Given the description of an element on the screen output the (x, y) to click on. 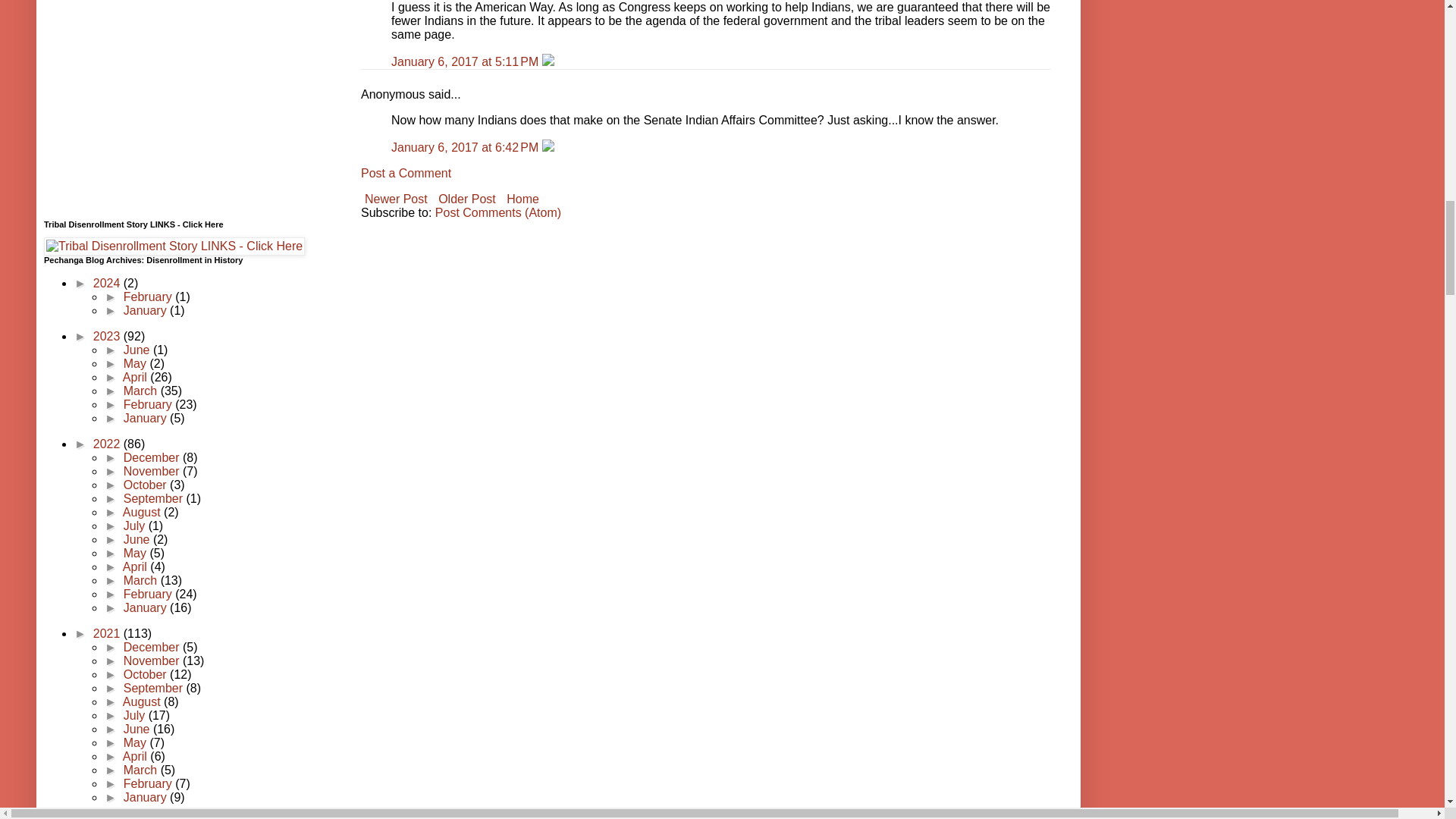
Home (522, 199)
February (148, 296)
January (146, 309)
Delete Comment (547, 61)
Newer Post (395, 199)
comment permalink (466, 146)
June (137, 349)
Newer Post (395, 199)
Delete Comment (547, 146)
Post a Comment (406, 173)
Older Post (466, 199)
April (135, 377)
2023 (108, 336)
comment permalink (466, 61)
